Given the description of an element on the screen output the (x, y) to click on. 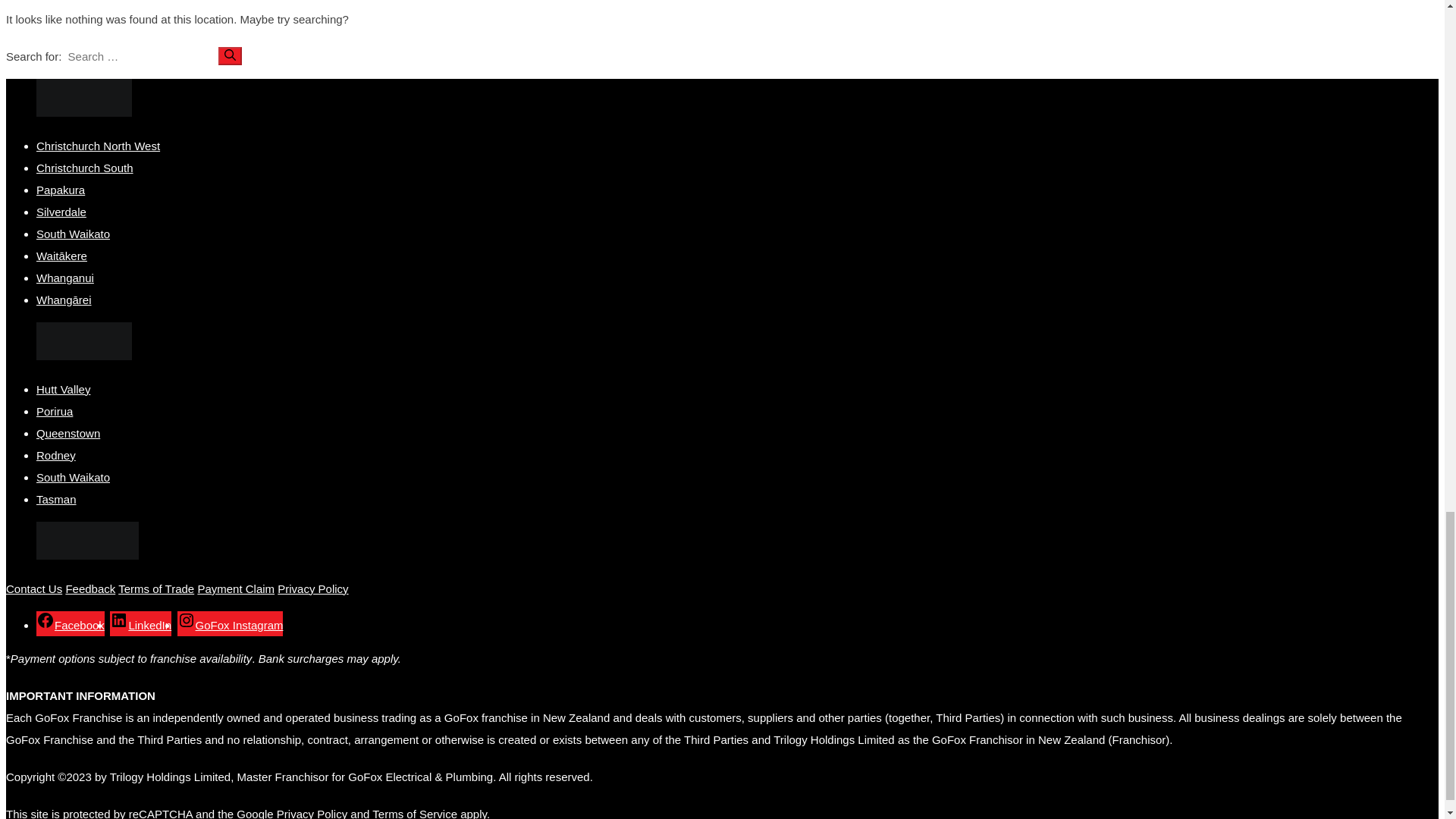
Search for: (140, 56)
